Given the description of an element on the screen output the (x, y) to click on. 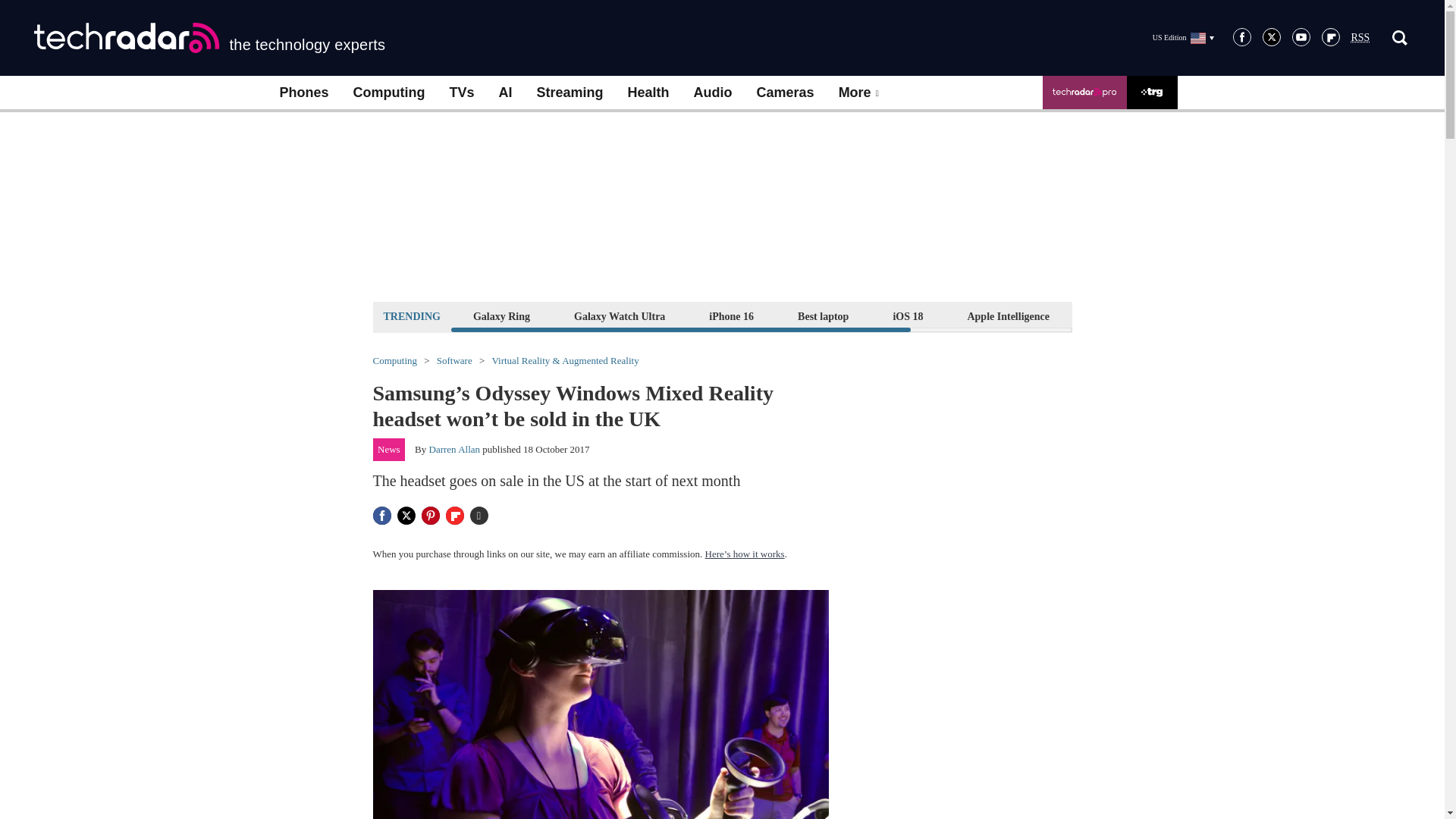
AI (505, 92)
TVs (461, 92)
US Edition (1182, 37)
Phones (303, 92)
Computing (389, 92)
the technology experts (209, 38)
Audio (712, 92)
Streaming (569, 92)
Really Simple Syndication (1360, 37)
Health (648, 92)
Cameras (785, 92)
